Given the description of an element on the screen output the (x, y) to click on. 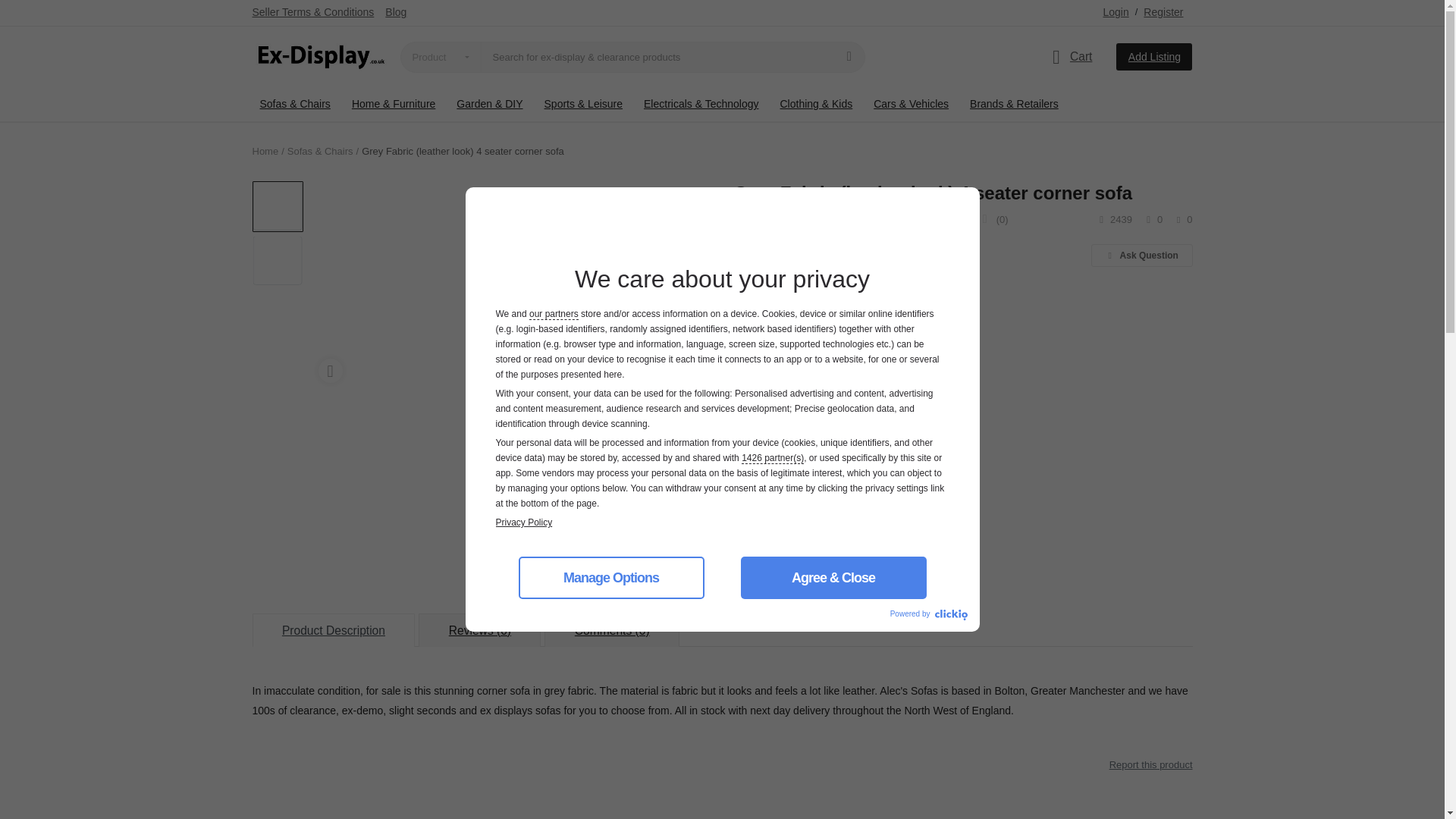
Register (1162, 12)
Product (440, 56)
Clickio (950, 614)
Blog (395, 12)
Login (1115, 12)
Cart (1069, 56)
Add Listing (1154, 56)
